Given the description of an element on the screen output the (x, y) to click on. 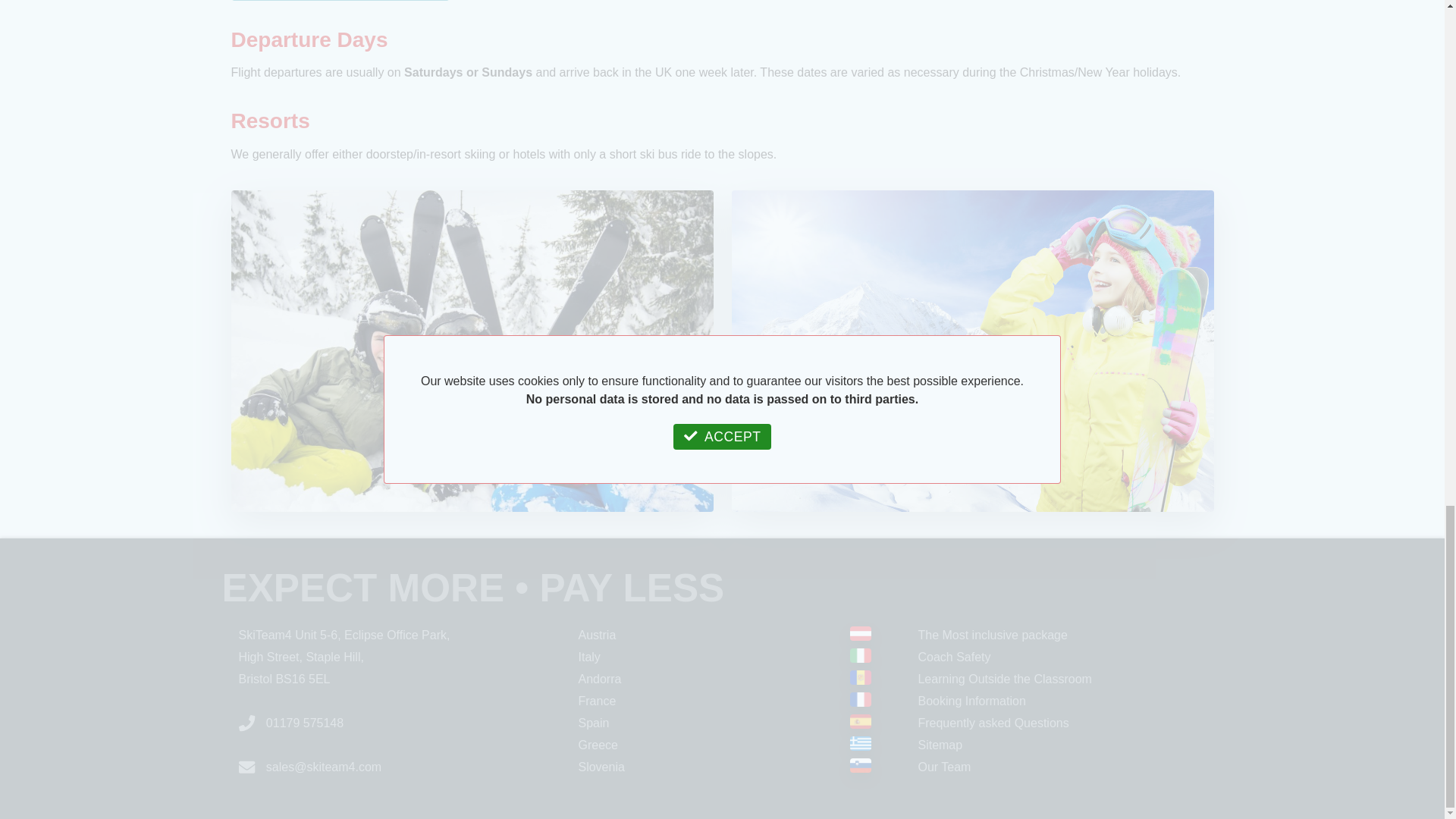
Spain (593, 722)
Greece (597, 744)
Austria (596, 634)
Andorra (599, 678)
France (596, 700)
Italy (588, 656)
